Given the description of an element on the screen output the (x, y) to click on. 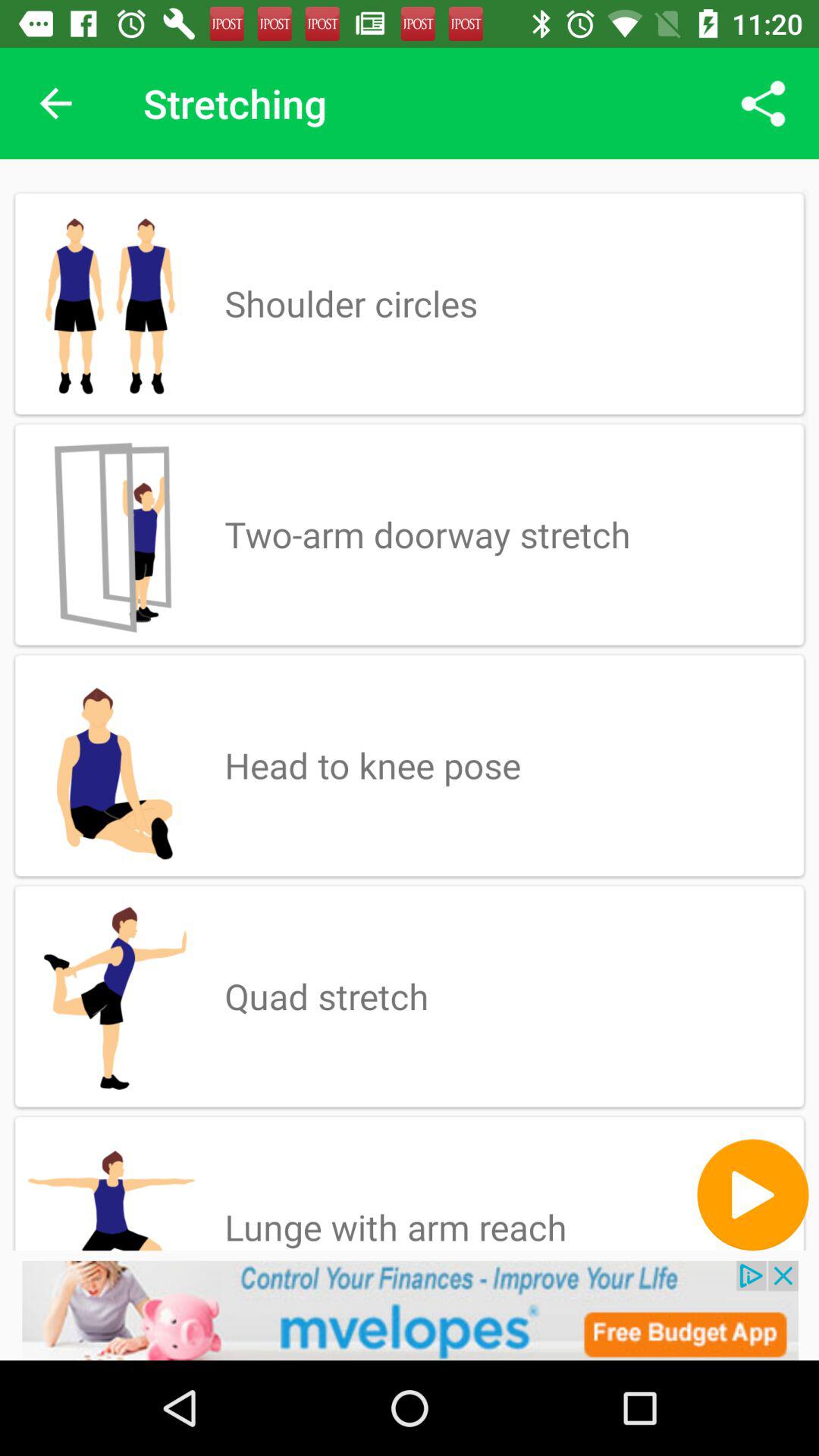
advertisements image (409, 1310)
